Given the description of an element on the screen output the (x, y) to click on. 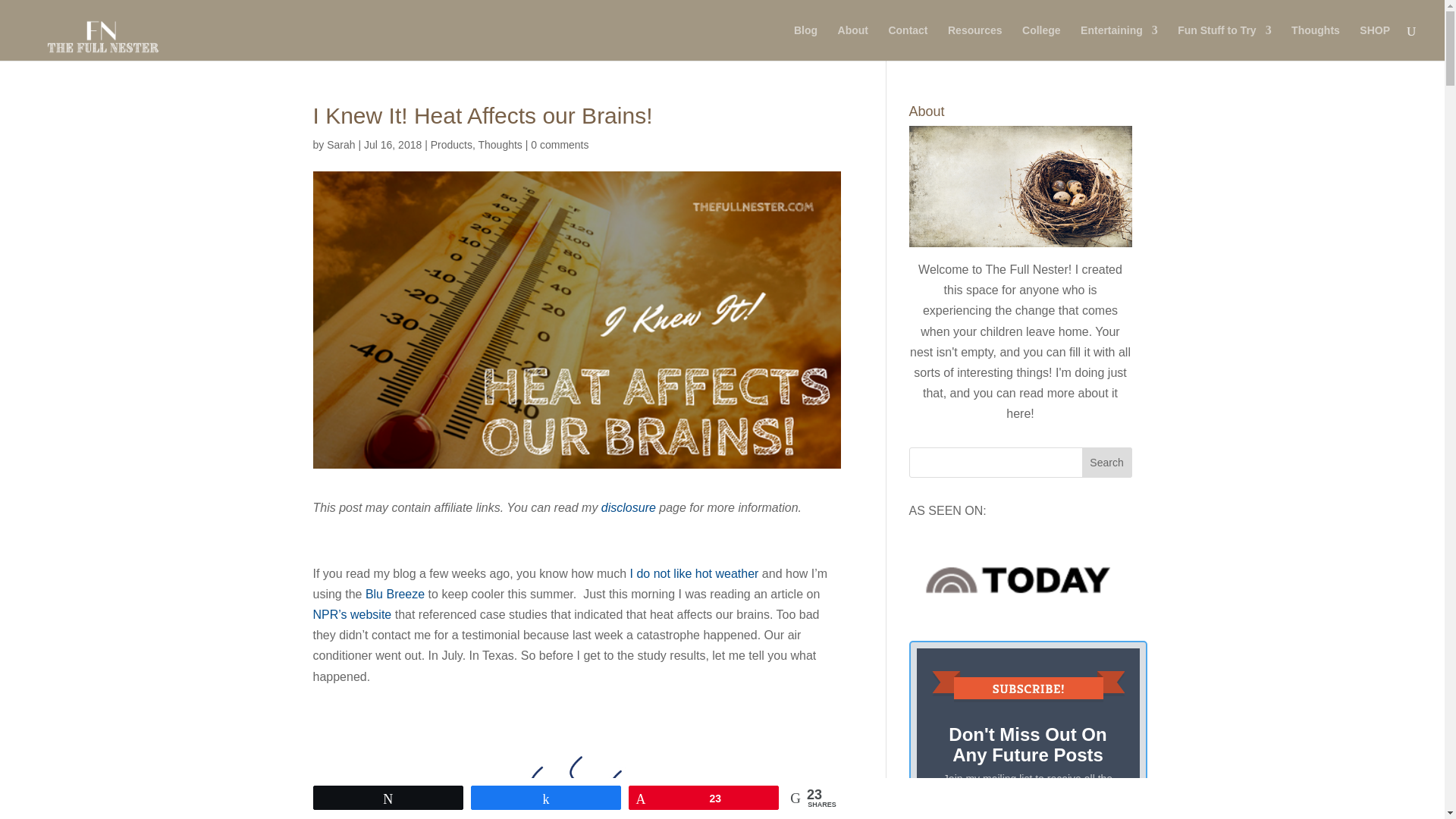
College (1041, 42)
Sarah (340, 144)
0 comments (559, 144)
Fun Stuff to Try (1224, 42)
Contact (907, 42)
Entertaining (1118, 42)
Blu Breeze (395, 594)
Products (450, 144)
Posts by Sarah (340, 144)
Thoughts (499, 144)
